Given the description of an element on the screen output the (x, y) to click on. 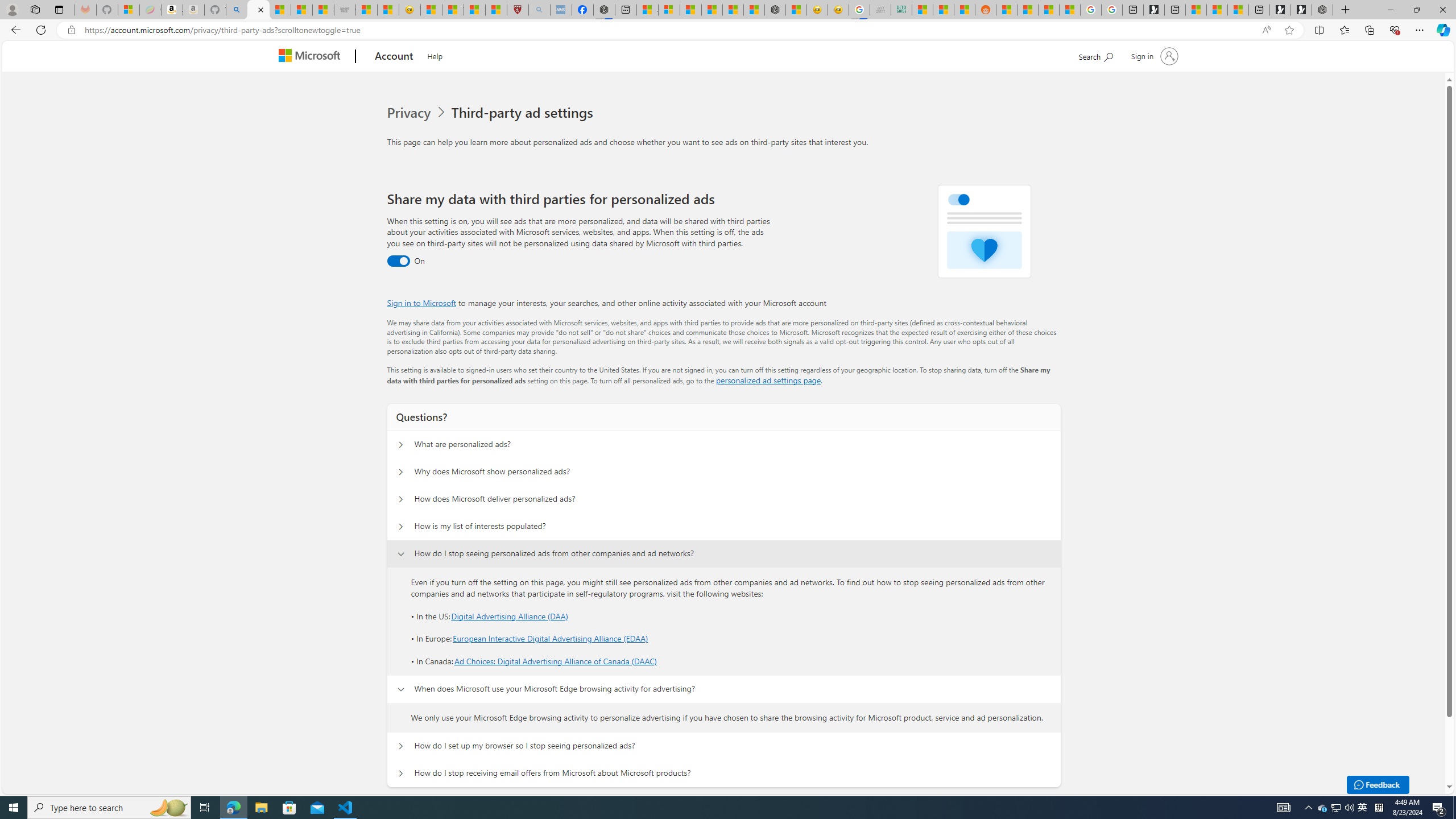
Search Microsoft.com (1095, 54)
Nordace - Nordace Siena Is Not An Ordinary Backpack (1322, 9)
Science - MSN (474, 9)
Microsoft Start Gaming (1153, 9)
